Given the description of an element on the screen output the (x, y) to click on. 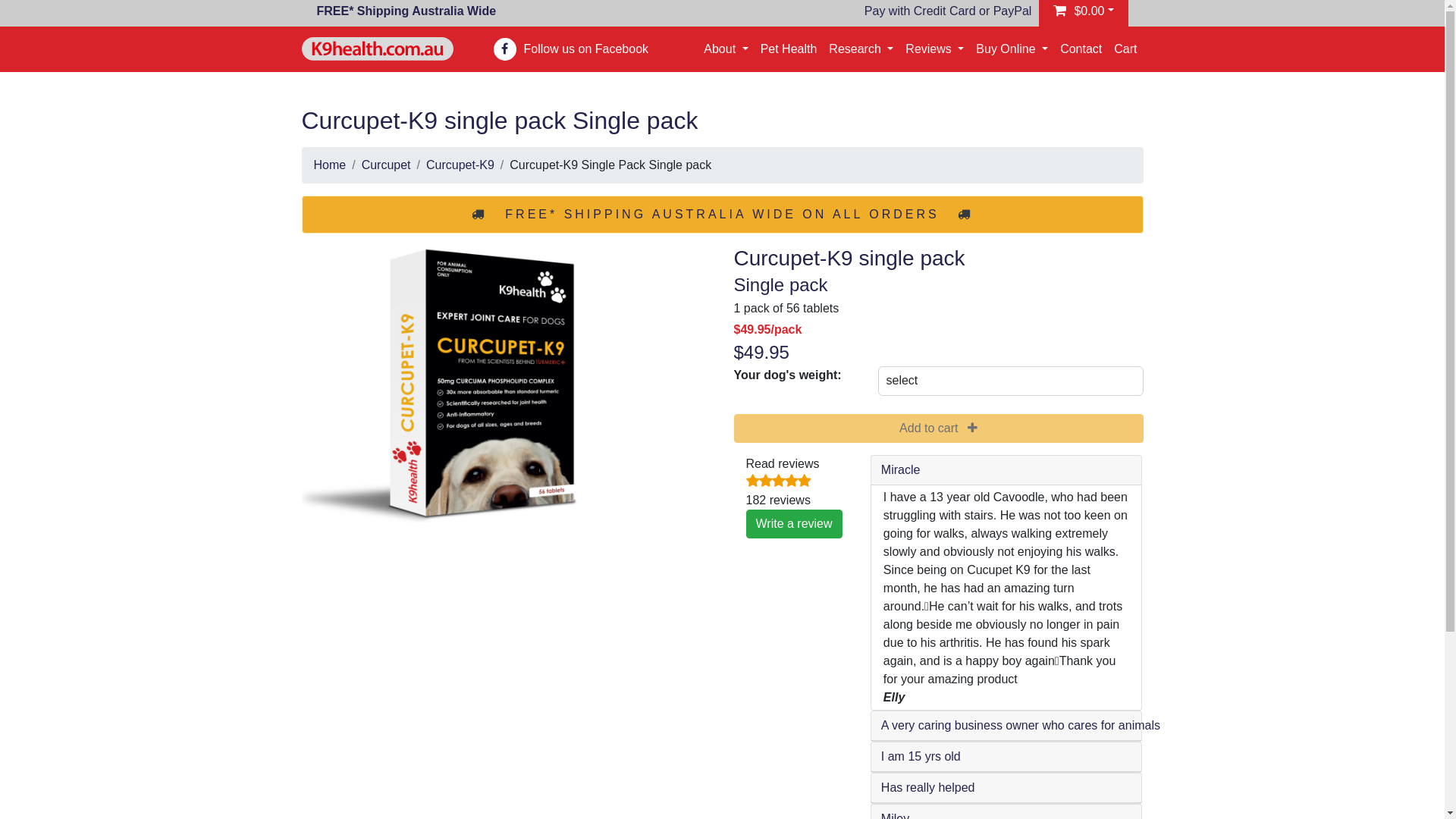
FREE* Shipping Australia Wide Element type: text (406, 10)
Curcupet Element type: text (386, 164)
Curcupet-K9 Element type: text (460, 164)
Add to cart Element type: text (938, 428)
I am 15 yrs old Element type: text (920, 756)
Home Element type: text (329, 164)
Write a review Element type: text (794, 523)
Contact Element type: text (1080, 49)
Miracle Element type: text (900, 469)
About Element type: text (725, 49)
A very caring business owner who cares for animals Element type: text (1020, 725)
Pet Health Element type: text (788, 49)
Research Element type: text (860, 49)
Follow us on Facebook Element type: text (585, 47)
Buy Online Element type: text (1011, 49)
Cart Element type: text (1124, 49)
FREE* SHIPPING AUSTRALIA WIDE ON ALL ORDERS Element type: text (721, 213)
Reviews Element type: text (934, 49)
Has really helped Element type: text (928, 787)
Pay with Credit Card or PayPal Element type: text (948, 10)
